Given the description of an element on the screen output the (x, y) to click on. 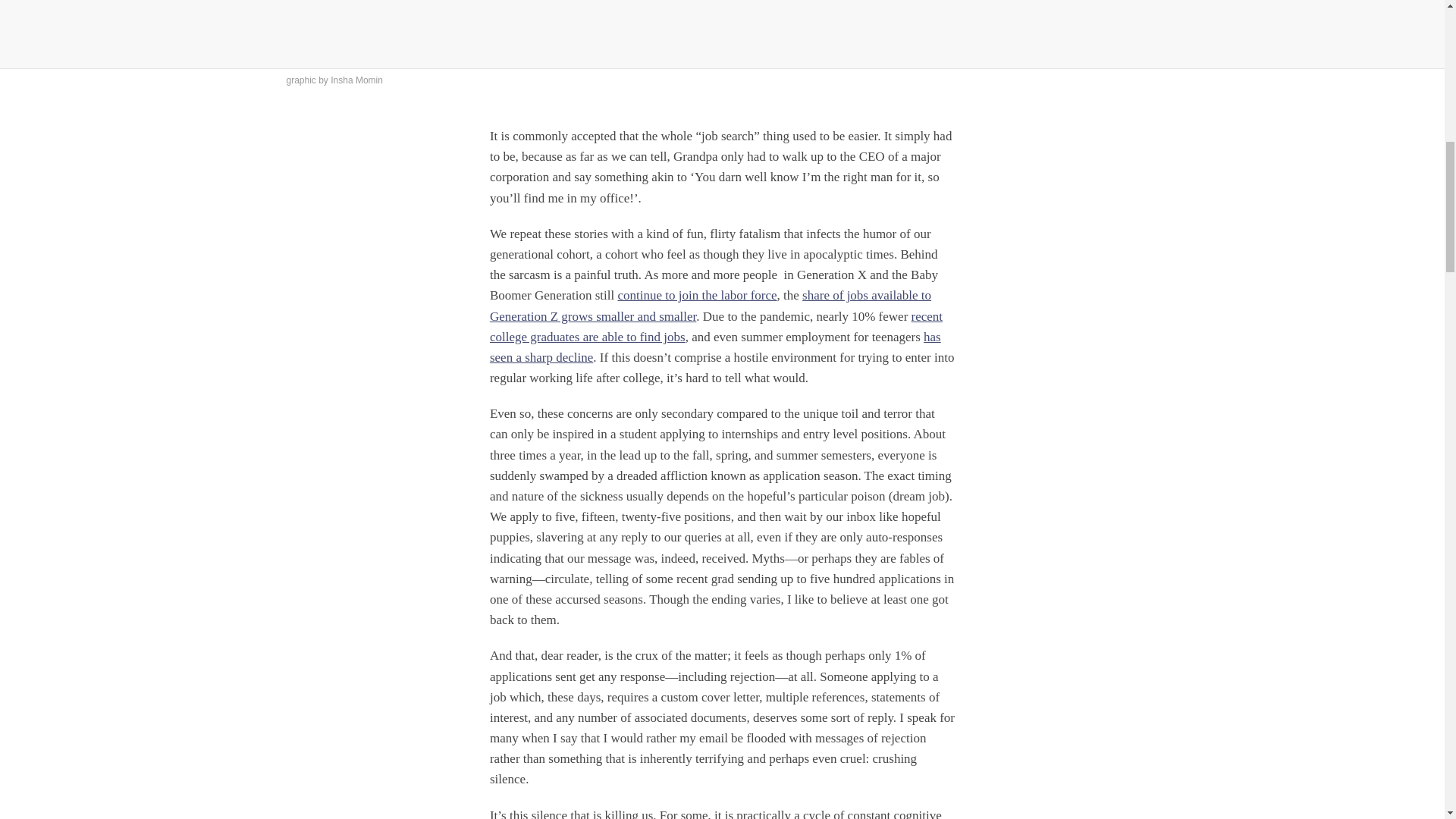
Posts by Hawkins Nessler (73, 26)
